Given the description of an element on the screen output the (x, y) to click on. 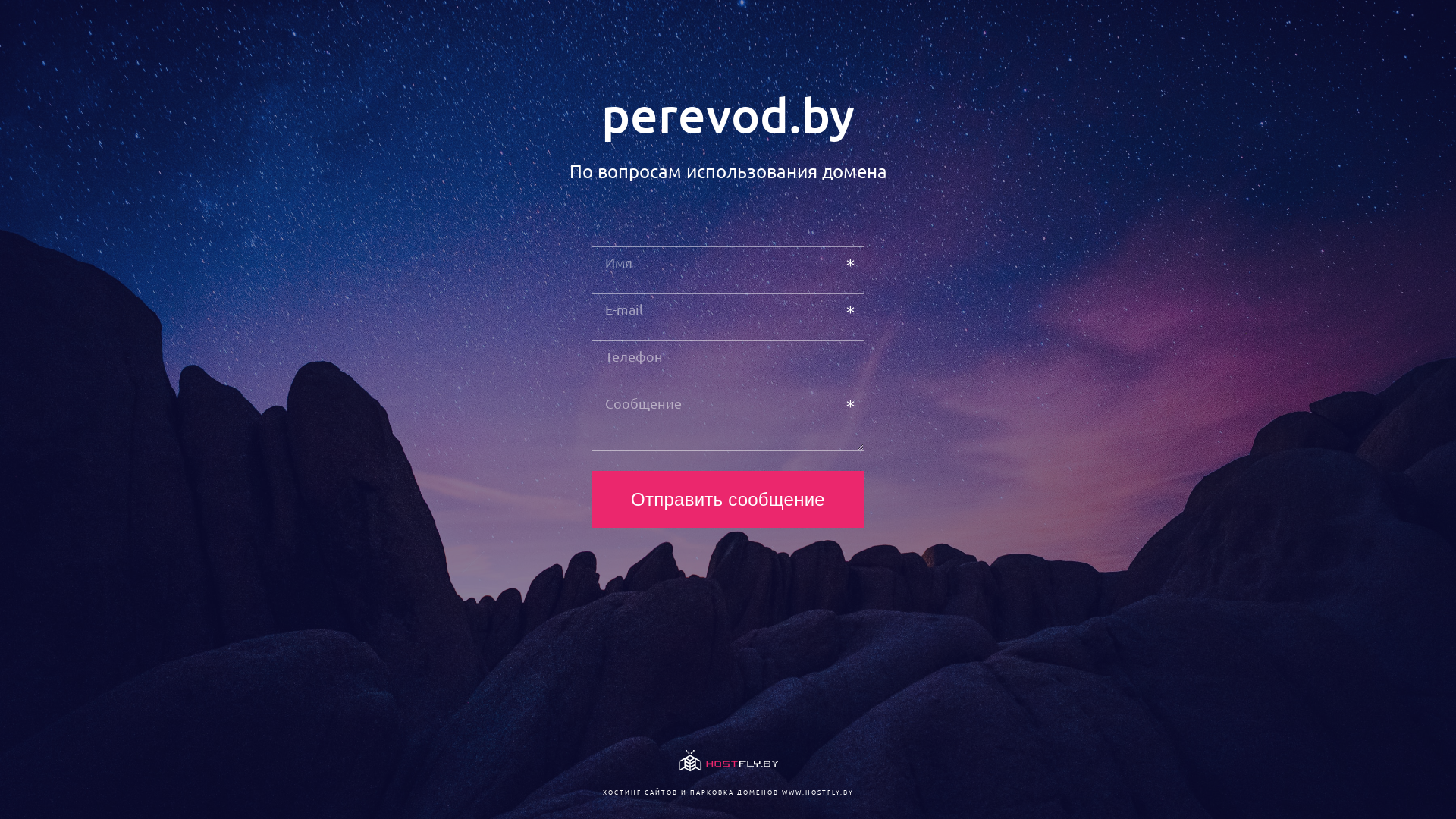
WWW.HOSTFLY.BY Element type: text (817, 791)
